Given the description of an element on the screen output the (x, y) to click on. 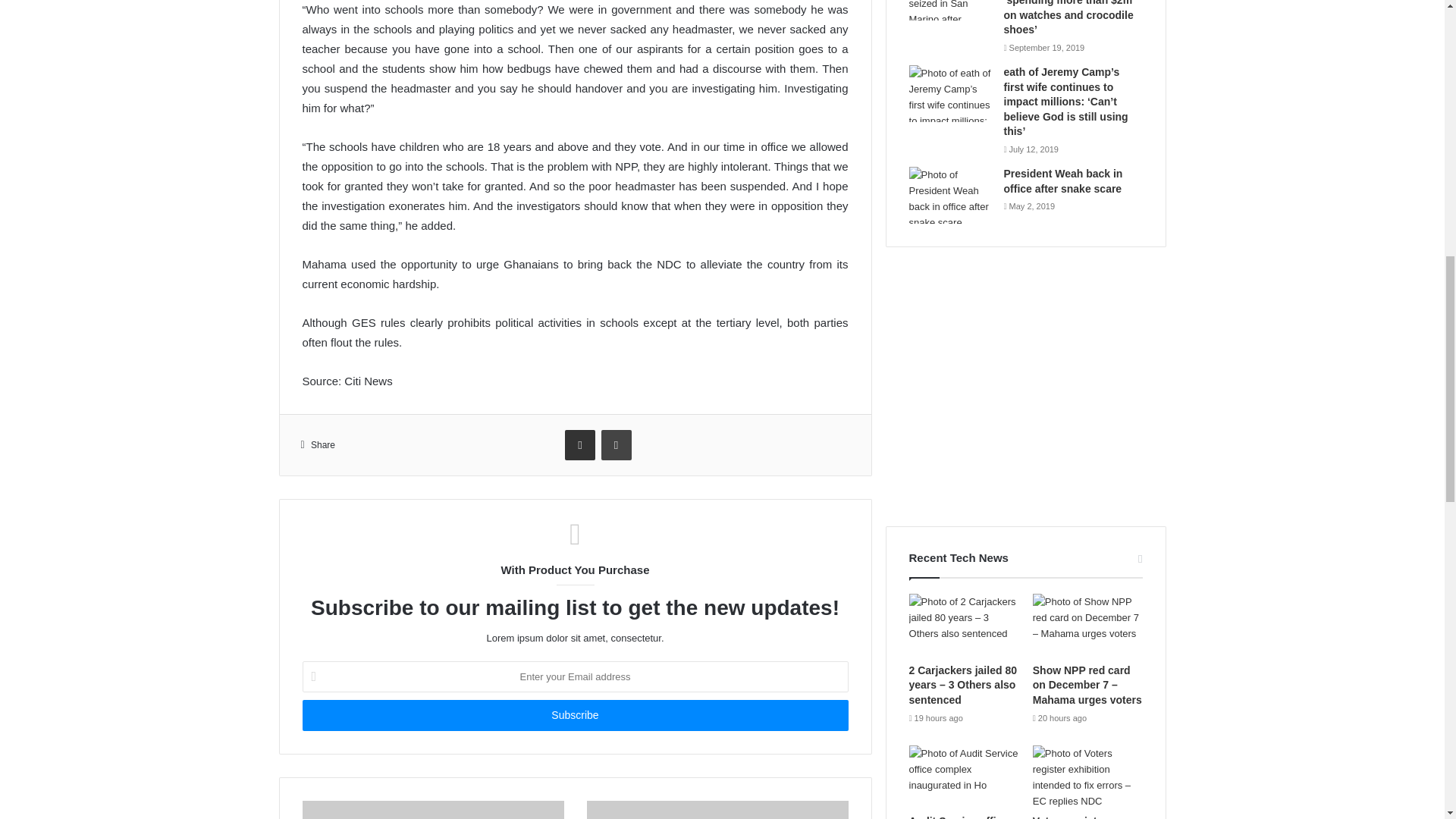
Print (616, 444)
Share via Email (579, 444)
Subscribe (574, 715)
Print (616, 444)
Share via Email (579, 444)
Subscribe (574, 715)
